Given the description of an element on the screen output the (x, y) to click on. 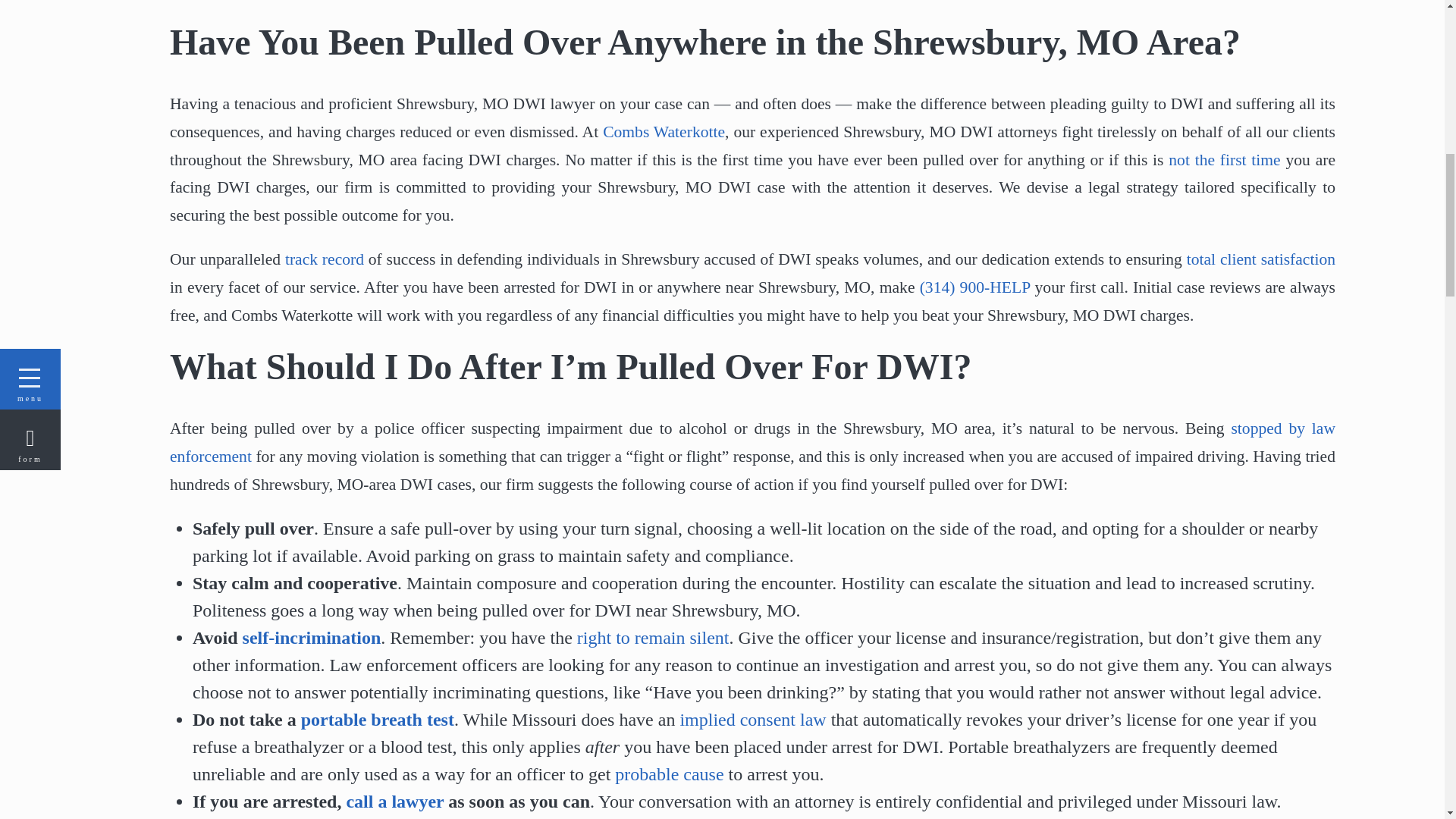
probable cause (668, 773)
DWI Lawyer Shrewsbury, MO - aclu.org (752, 442)
DWI Lawyer Shrewsbury, MO - mo.gov (752, 719)
call a lawyer (395, 801)
not the first time (1224, 159)
self-incrimination (312, 637)
total client satisfaction (1260, 259)
Combs Waterkotte (663, 131)
stopped by law enforcement (752, 442)
DWI Lawyer Shrewsbury, MO - mo.gov (377, 719)
